Given the description of an element on the screen output the (x, y) to click on. 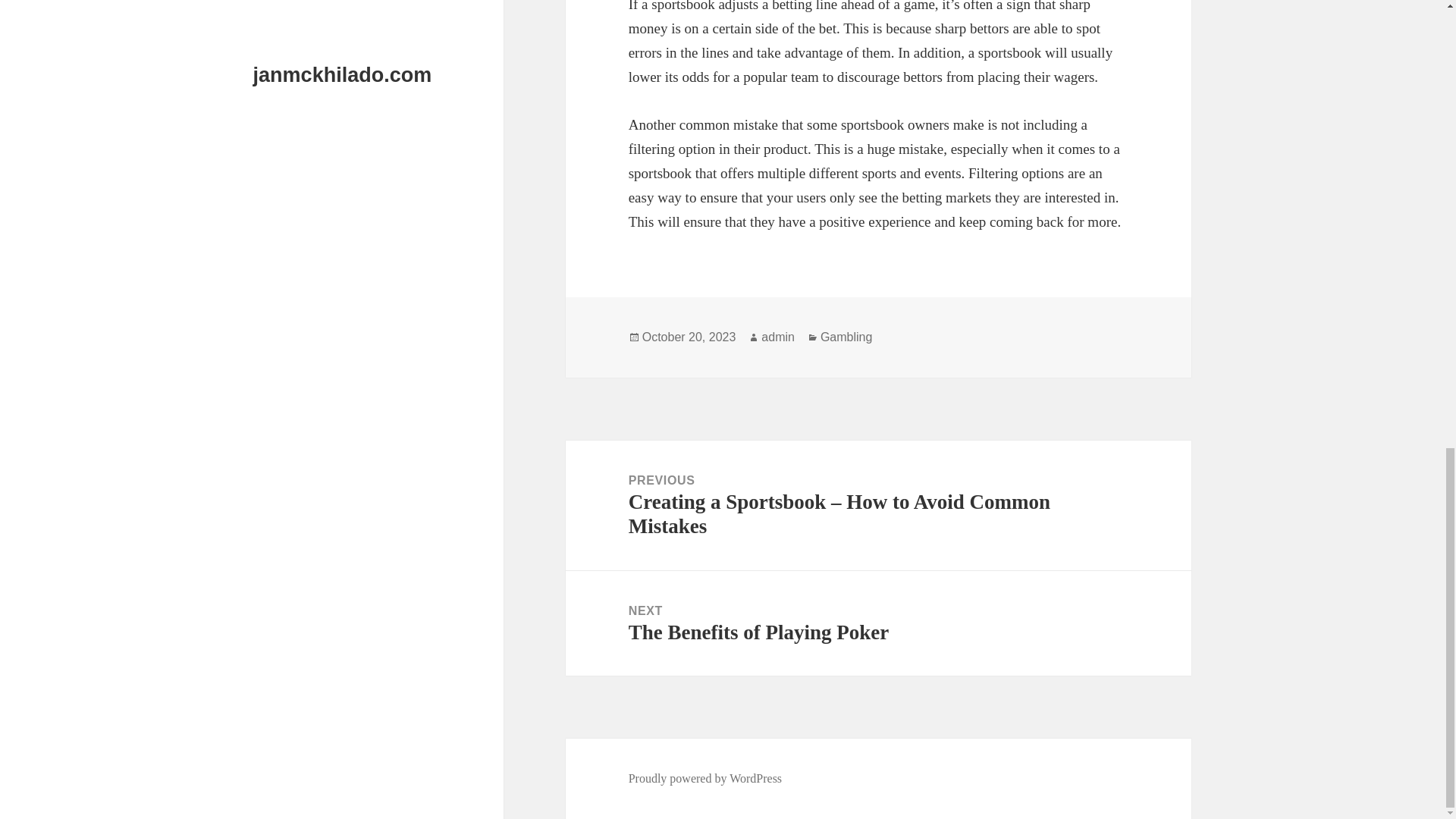
October 20, 2023 (689, 336)
admin (777, 336)
Proudly powered by WordPress (704, 778)
Gambling (878, 623)
